Given the description of an element on the screen output the (x, y) to click on. 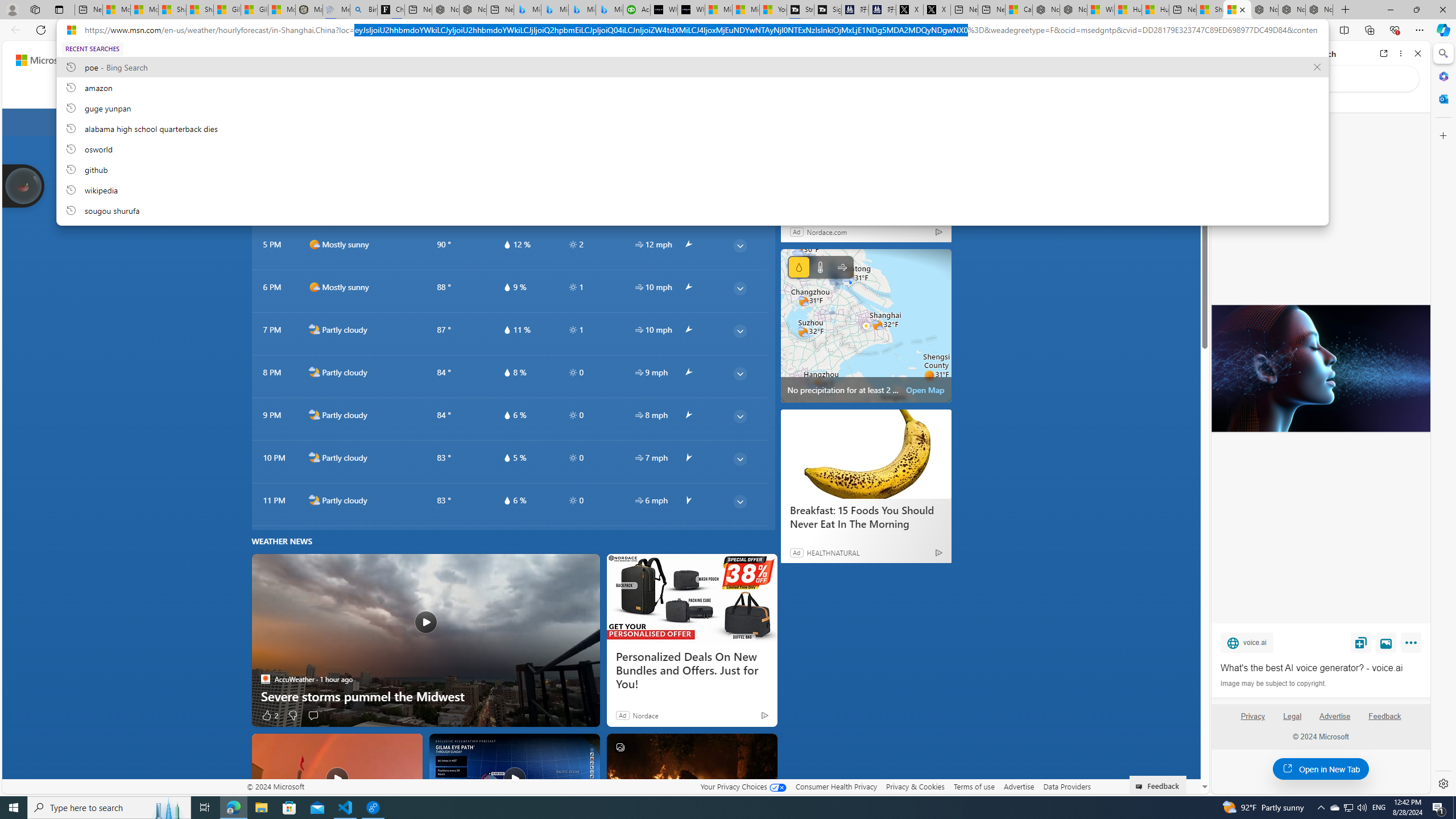
Monthly (427, 92)
hourlyTable/uv (572, 500)
Breakfast: 15 Foods You Should Never Eat In The Morning (866, 453)
Air Quality (818, 92)
2 Like (269, 714)
Class: button-glyph (165, 92)
Ad (796, 552)
Bing Real Estate - Home sales and rental listings (363, 9)
Temperature (820, 267)
Precipitation (798, 267)
amazon, recent searches from history (691, 86)
Air Quality (824, 92)
